Given the description of an element on the screen output the (x, y) to click on. 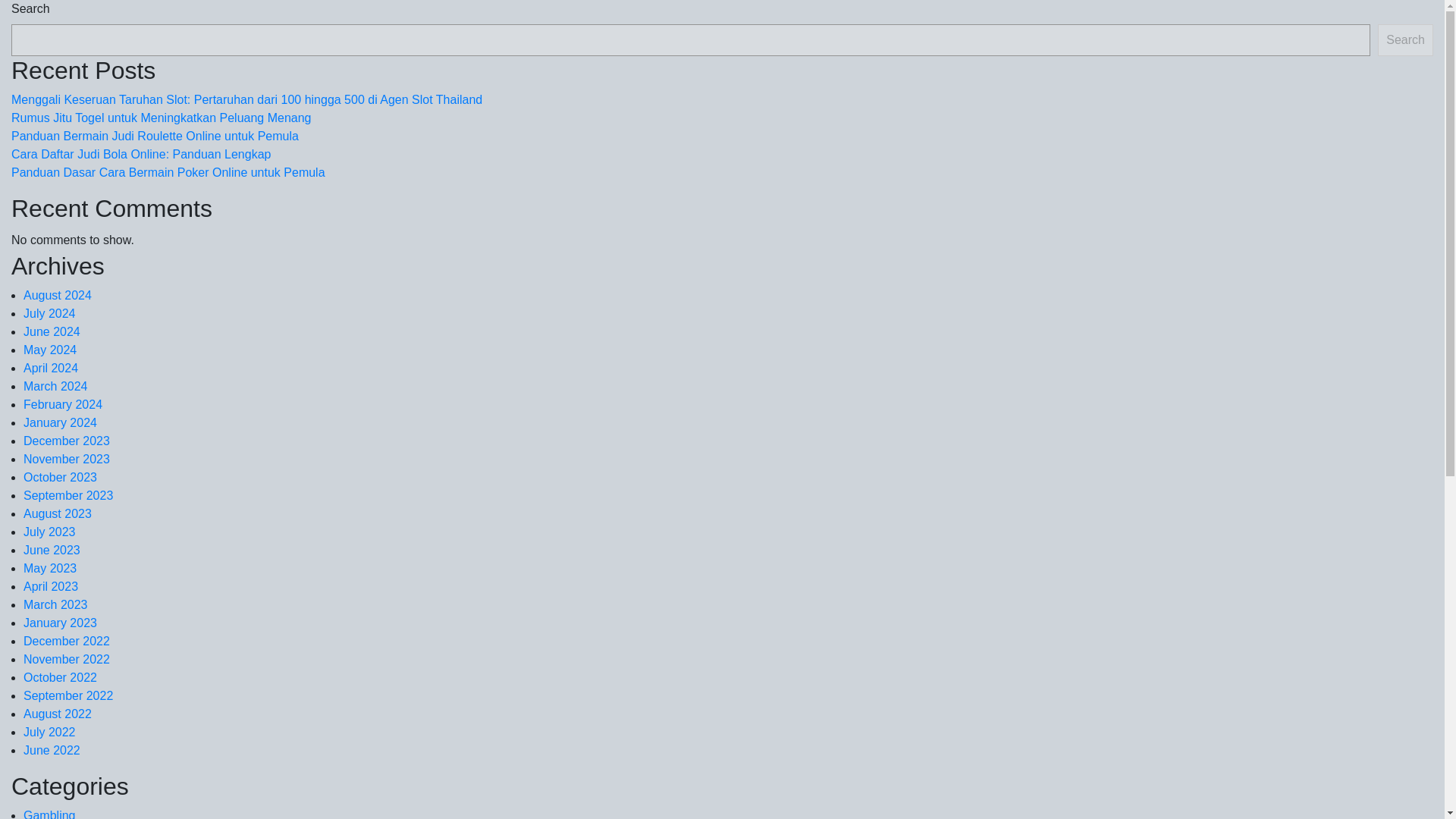
June 2022 (51, 749)
July 2022 (49, 731)
May 2023 (50, 567)
March 2024 (55, 386)
Panduan Bermain Judi Roulette Online untuk Pemula (154, 135)
March 2023 (55, 604)
April 2024 (50, 367)
December 2022 (66, 640)
September 2023 (68, 495)
July 2024 (49, 313)
